Given the description of an element on the screen output the (x, y) to click on. 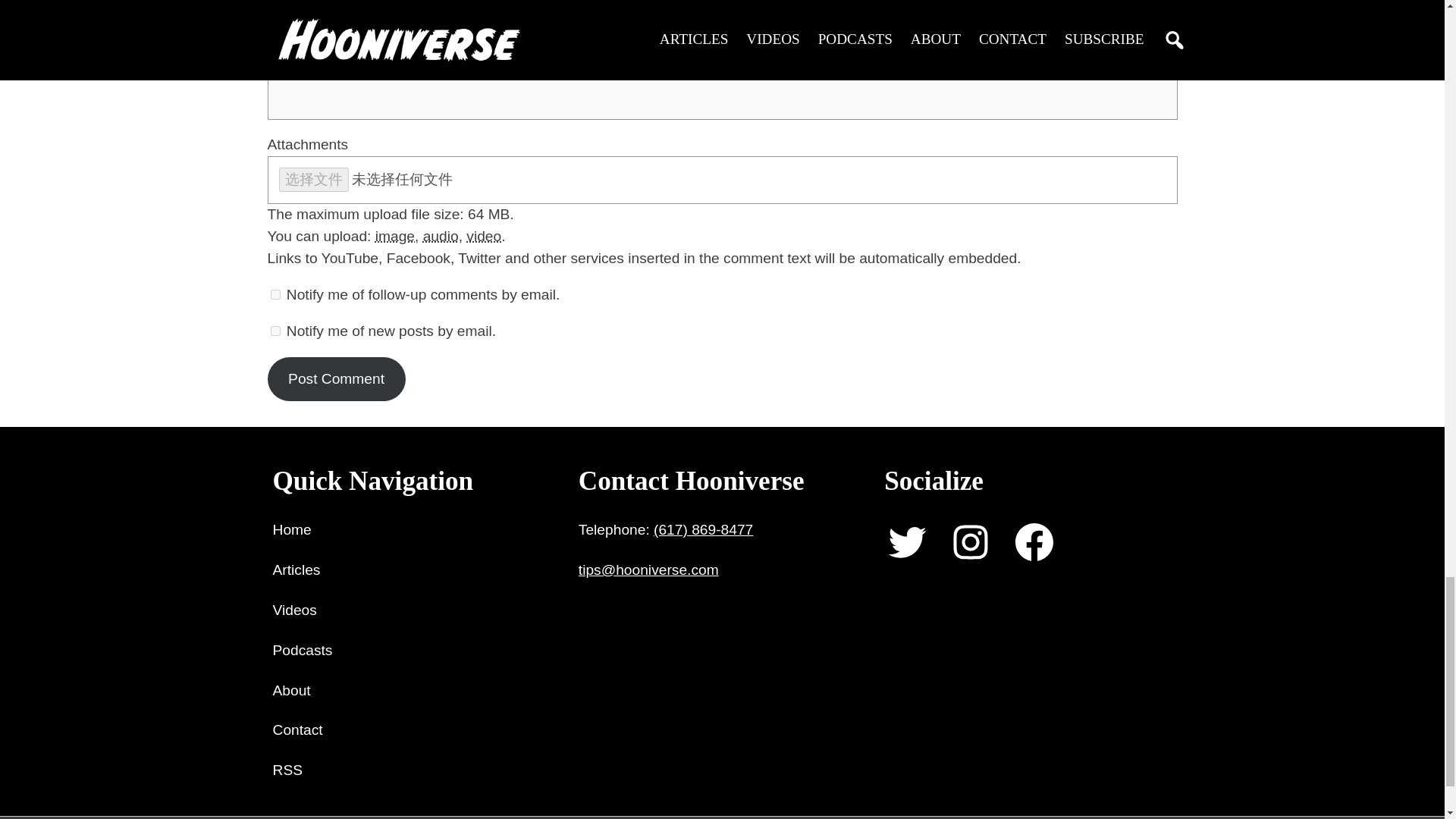
Podcasts (303, 650)
Twitter (906, 542)
mp3, m4a, m4b, aac, ram, wav, ogg, oga, flac, wma, mka (440, 236)
subscribe (274, 330)
Contact (298, 730)
Post Comment (335, 379)
Home (292, 530)
Facebook (1034, 542)
Instagram (969, 542)
About (292, 690)
jpg, jpeg, jpe, gif, png, bmp, tiff, tif, ico, heic (394, 236)
Articles (296, 570)
subscribe (274, 294)
RSS (287, 771)
